Given the description of an element on the screen output the (x, y) to click on. 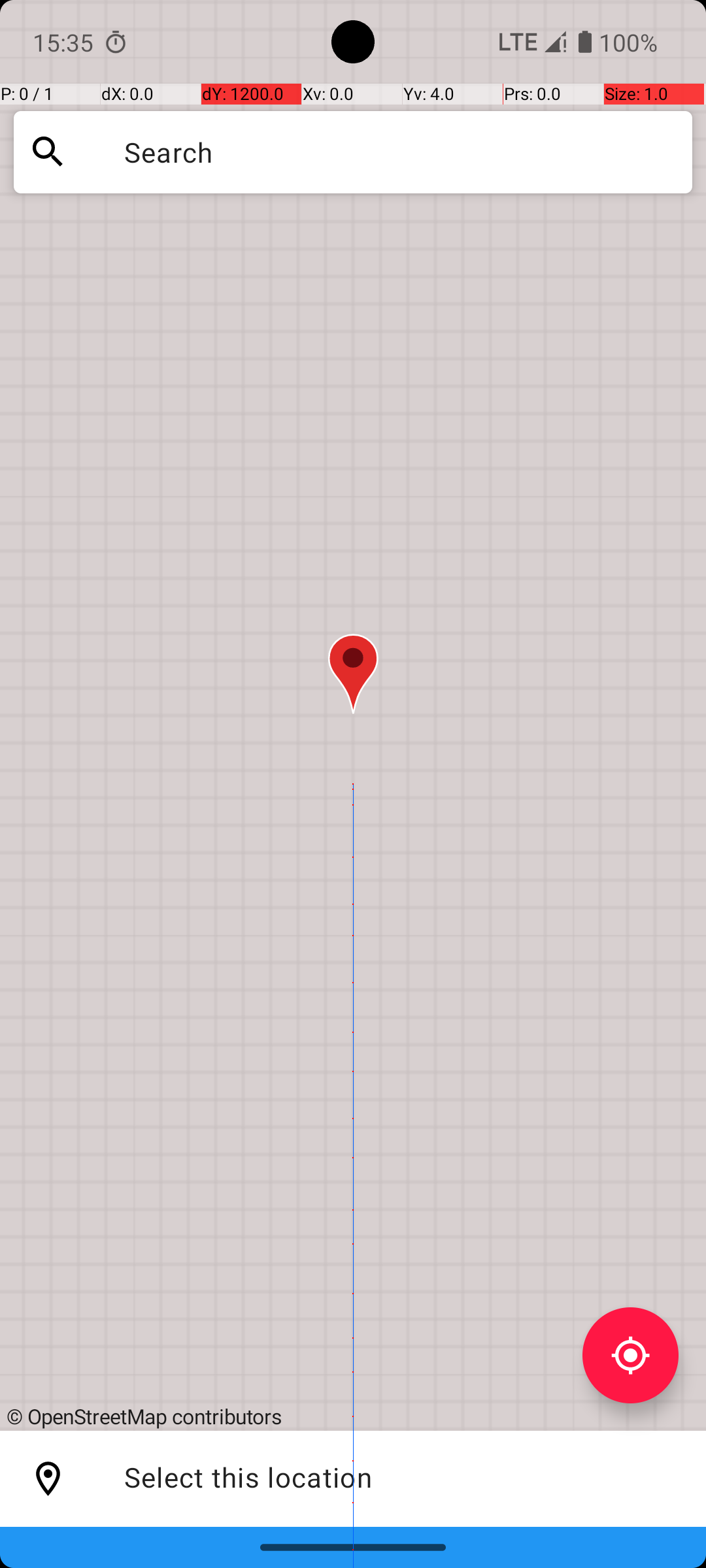
Select this location Element type: android.widget.ImageView (47, 1478)
